Given the description of an element on the screen output the (x, y) to click on. 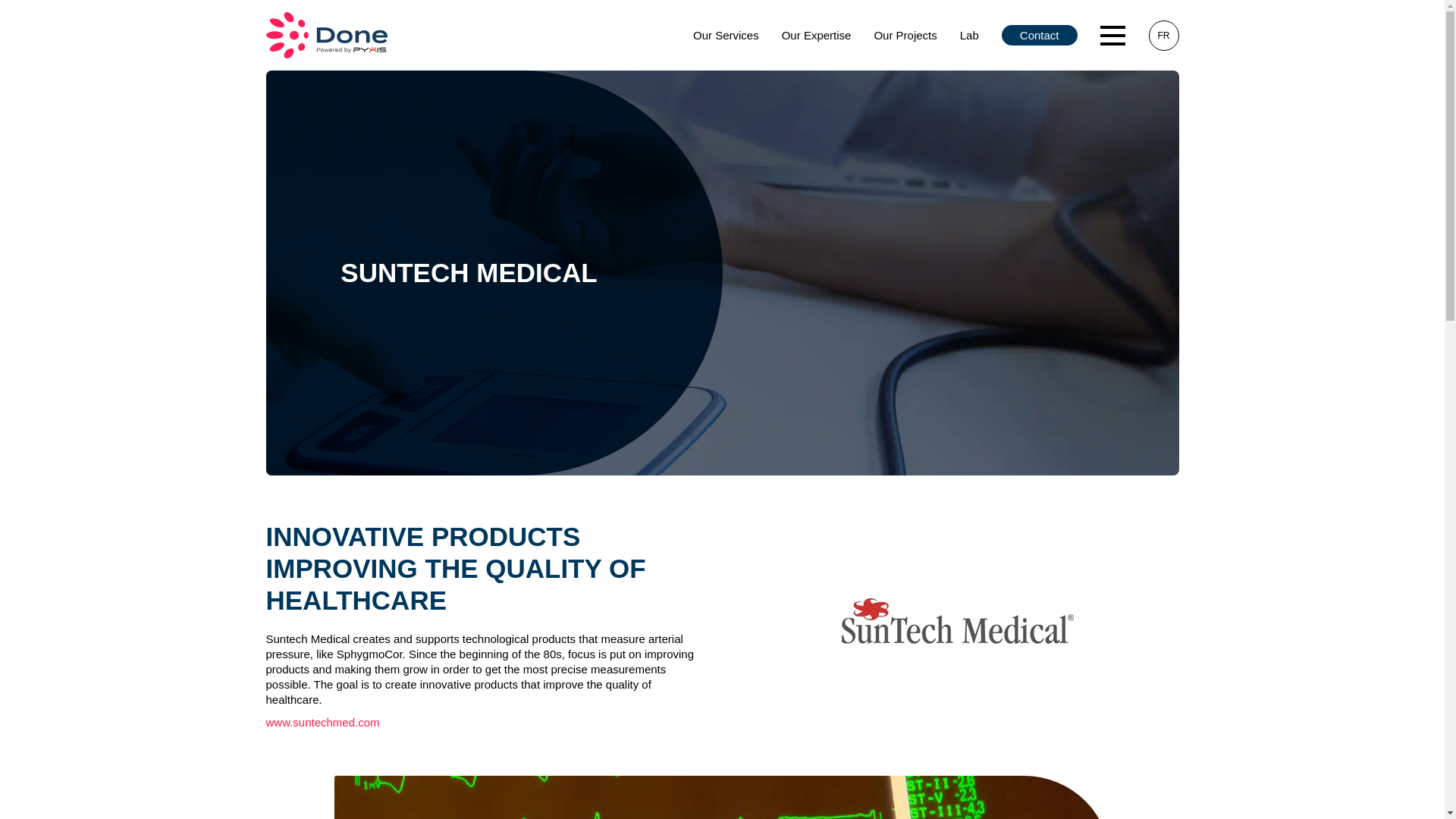
FR (1162, 35)
Our Expertise (816, 35)
FR (1162, 35)
img-suntech (721, 797)
Our Projects (904, 35)
Contact (1039, 35)
Our Services (725, 35)
Lab (969, 35)
